Given the description of an element on the screen output the (x, y) to click on. 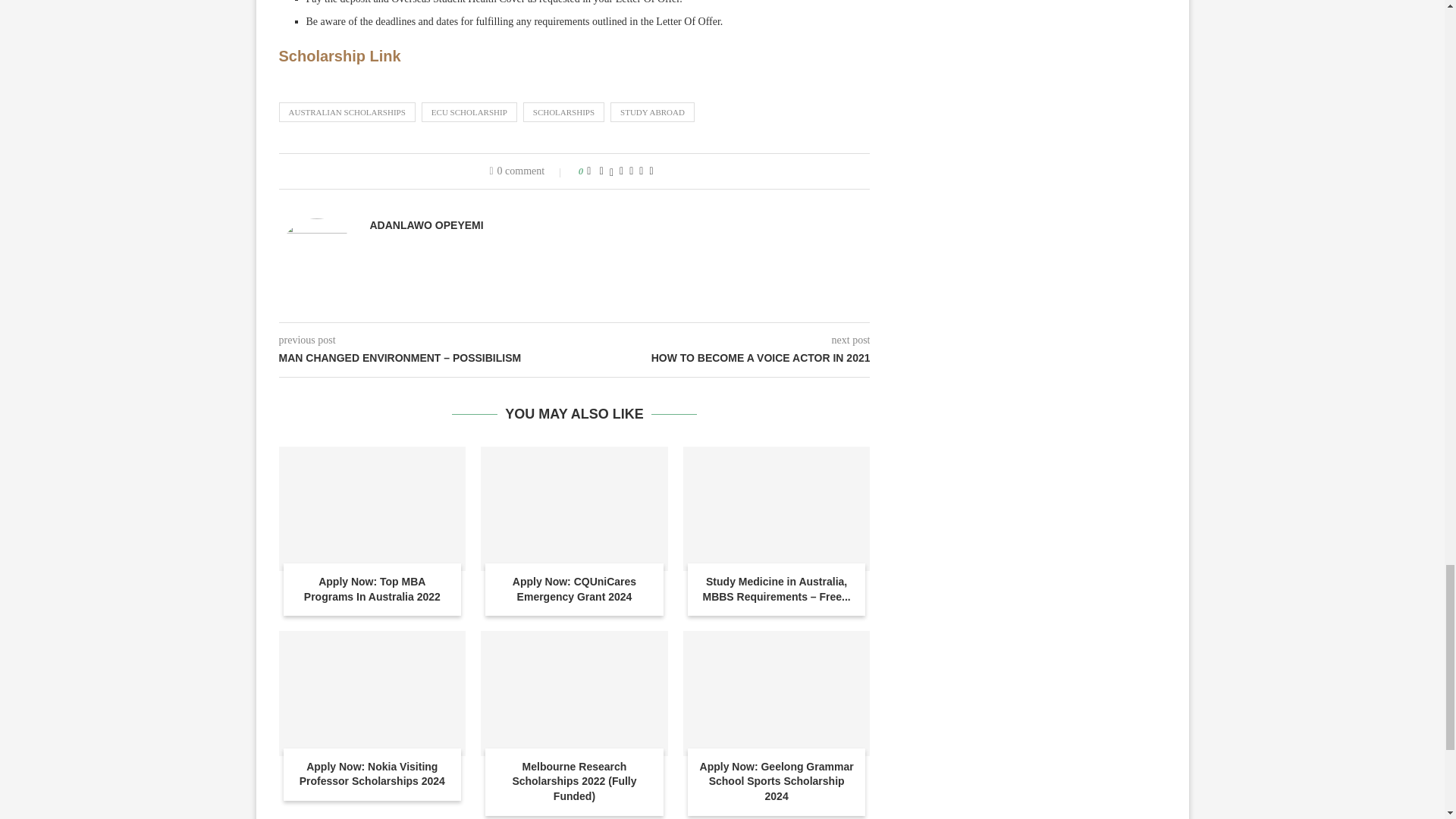
STUDY ABROAD (652, 112)
Scholarship Link (340, 55)
SCHOLARSHIPS (563, 112)
ECU SCHOLARSHIP (469, 112)
AUSTRALIAN SCHOLARSHIPS (346, 112)
